Given the description of an element on the screen output the (x, y) to click on. 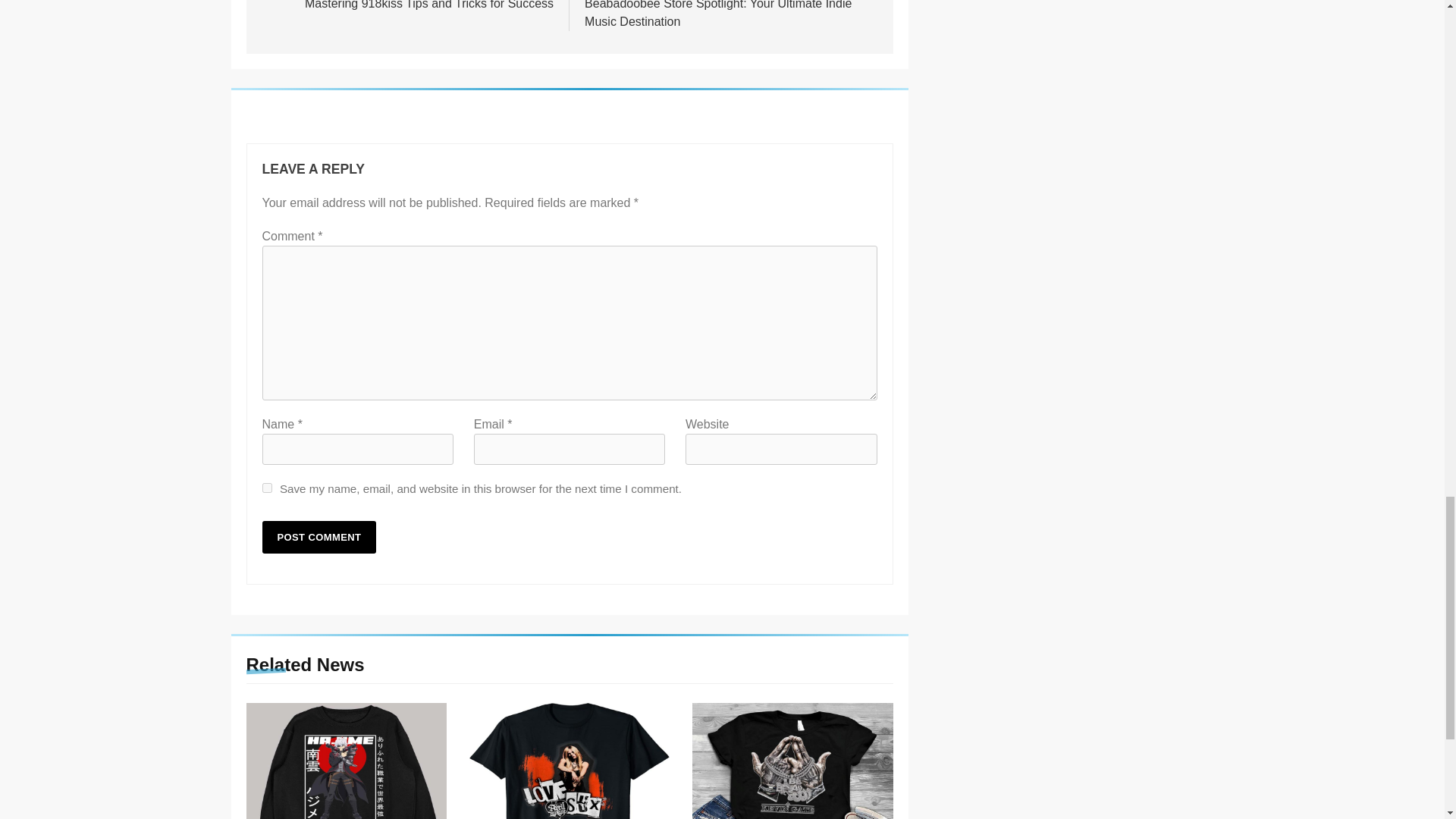
yes (267, 488)
Post Comment (319, 536)
Post Comment (406, 4)
